Given the description of an element on the screen output the (x, y) to click on. 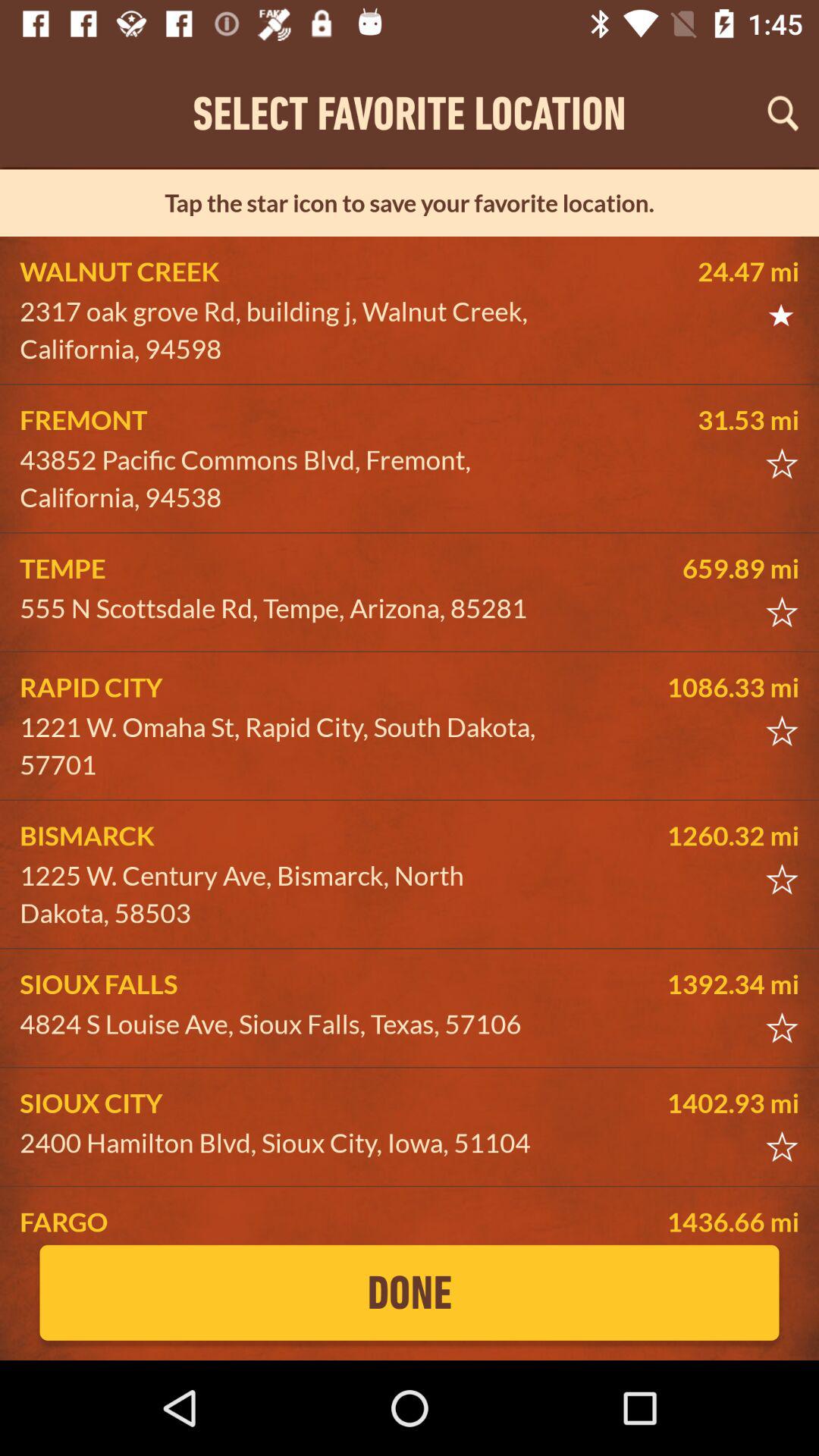
swipe to the 1221 w omaha (285, 745)
